Given the description of an element on the screen output the (x, y) to click on. 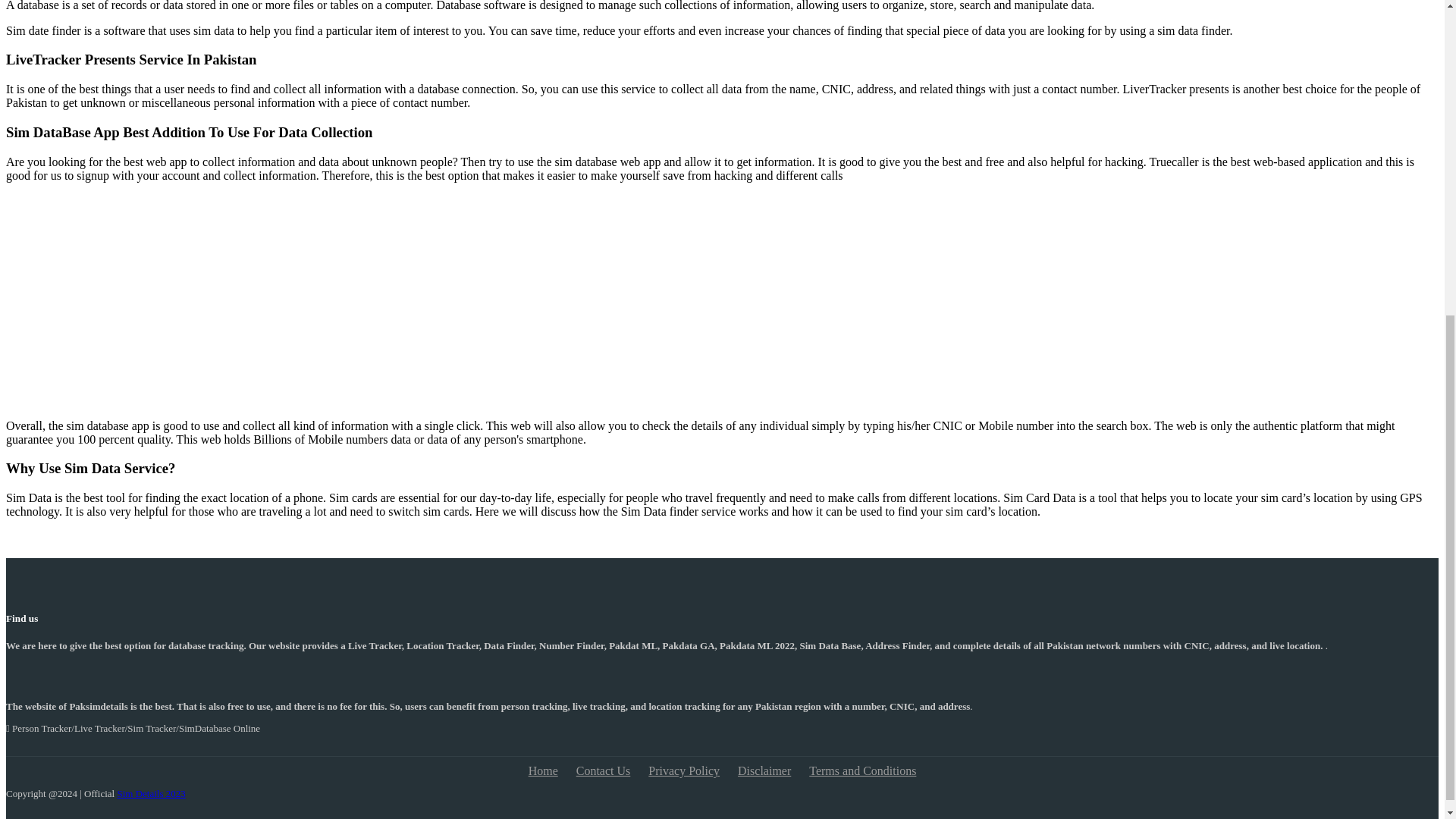
Privacy Policy (683, 770)
Terms and Conditions (862, 770)
Disclaimer (764, 770)
Contact Us (603, 770)
Home (542, 770)
Sim Details 2023 (150, 793)
